Given the description of an element on the screen output the (x, y) to click on. 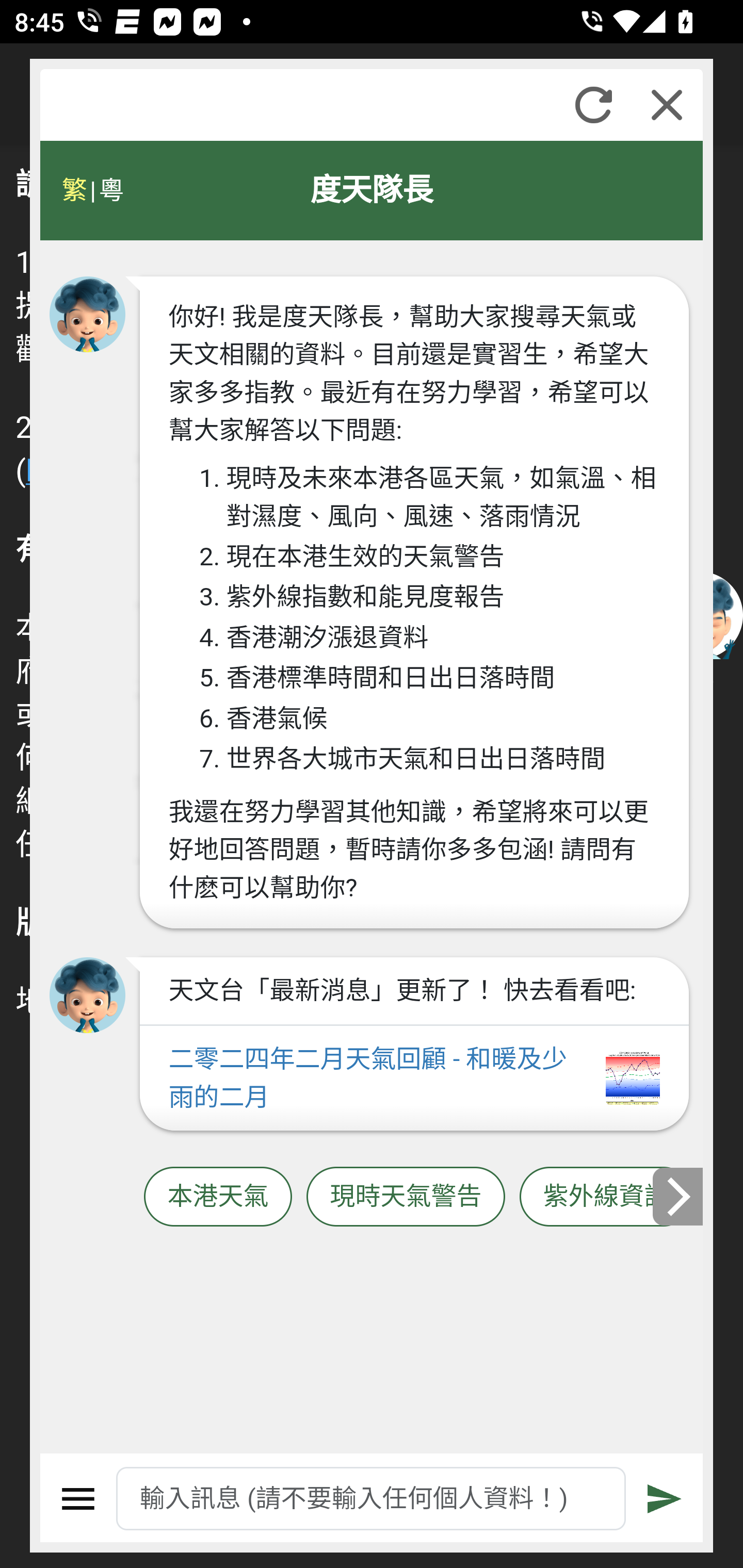
重新整理 (593, 104)
關閉 (666, 104)
繁 (73, 190)
粵 (110, 190)
二零二四年二月天氣回顧 - 和暖及少雨的二月 (413, 1078)
本港天氣 (217, 1196)
現時天氣警告 (405, 1196)
紫外線資訊 (605, 1196)
下一張 (678, 1196)
選單 (78, 1498)
遞交 (665, 1498)
